Given the description of an element on the screen output the (x, y) to click on. 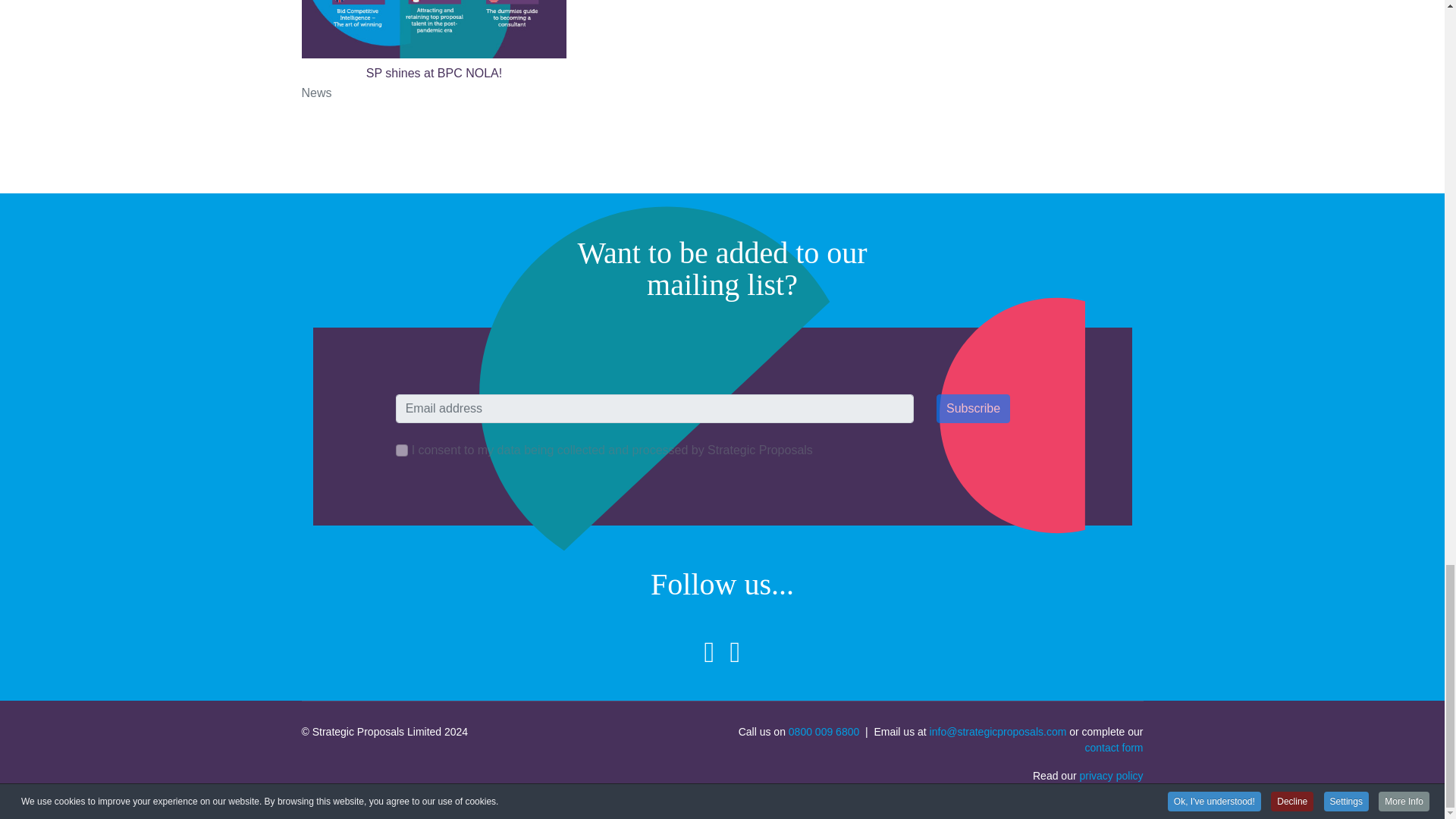
Youtube (734, 652)
linkedin (709, 652)
